Given the description of an element on the screen output the (x, y) to click on. 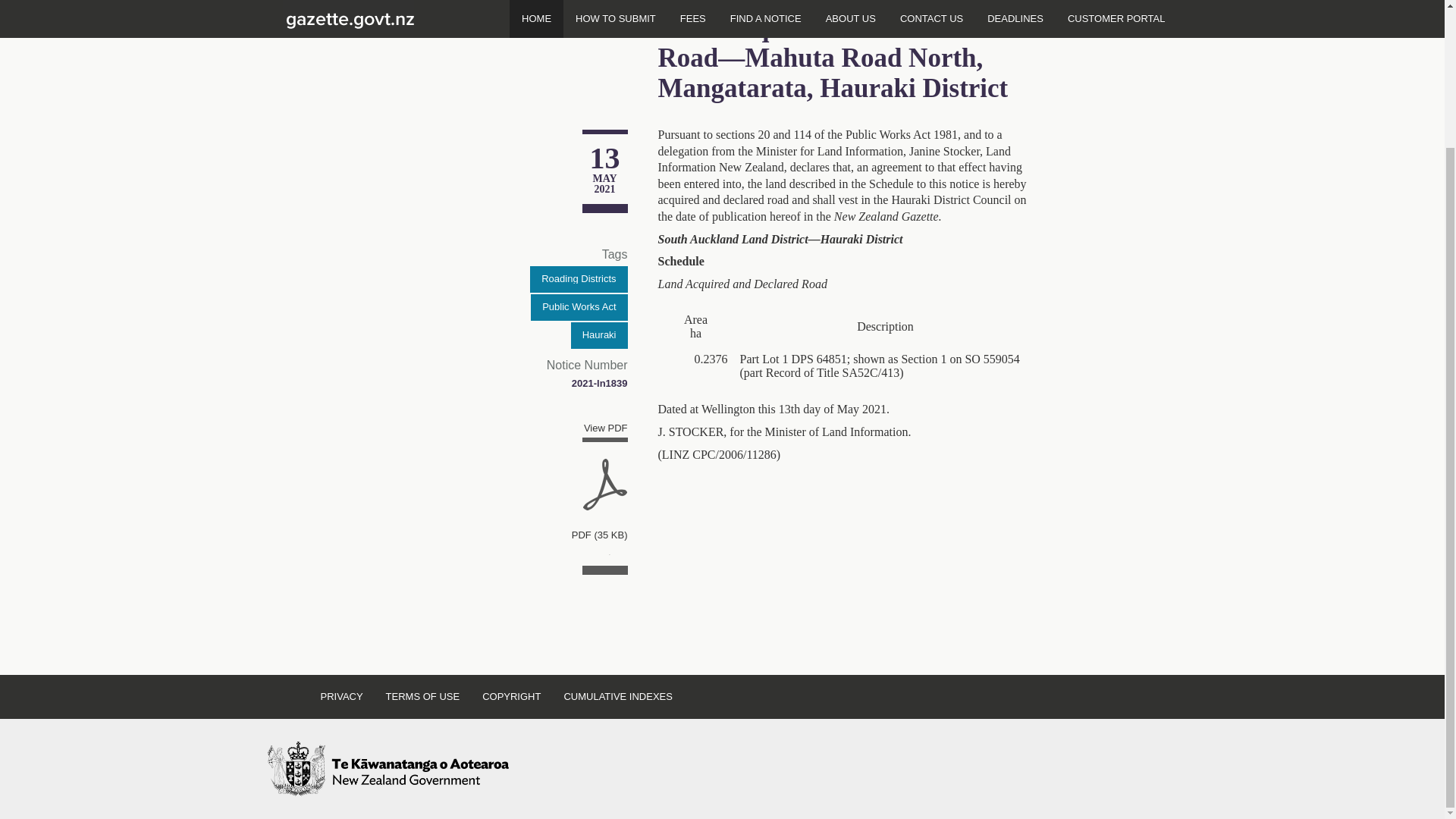
Hauraki (598, 335)
PRIVACY (341, 696)
COPYRIGHT (510, 696)
Public Works Act (579, 307)
TERMS OF USE (422, 696)
Roading Districts (578, 279)
CUMULATIVE INDEXES (617, 696)
